Given the description of an element on the screen output the (x, y) to click on. 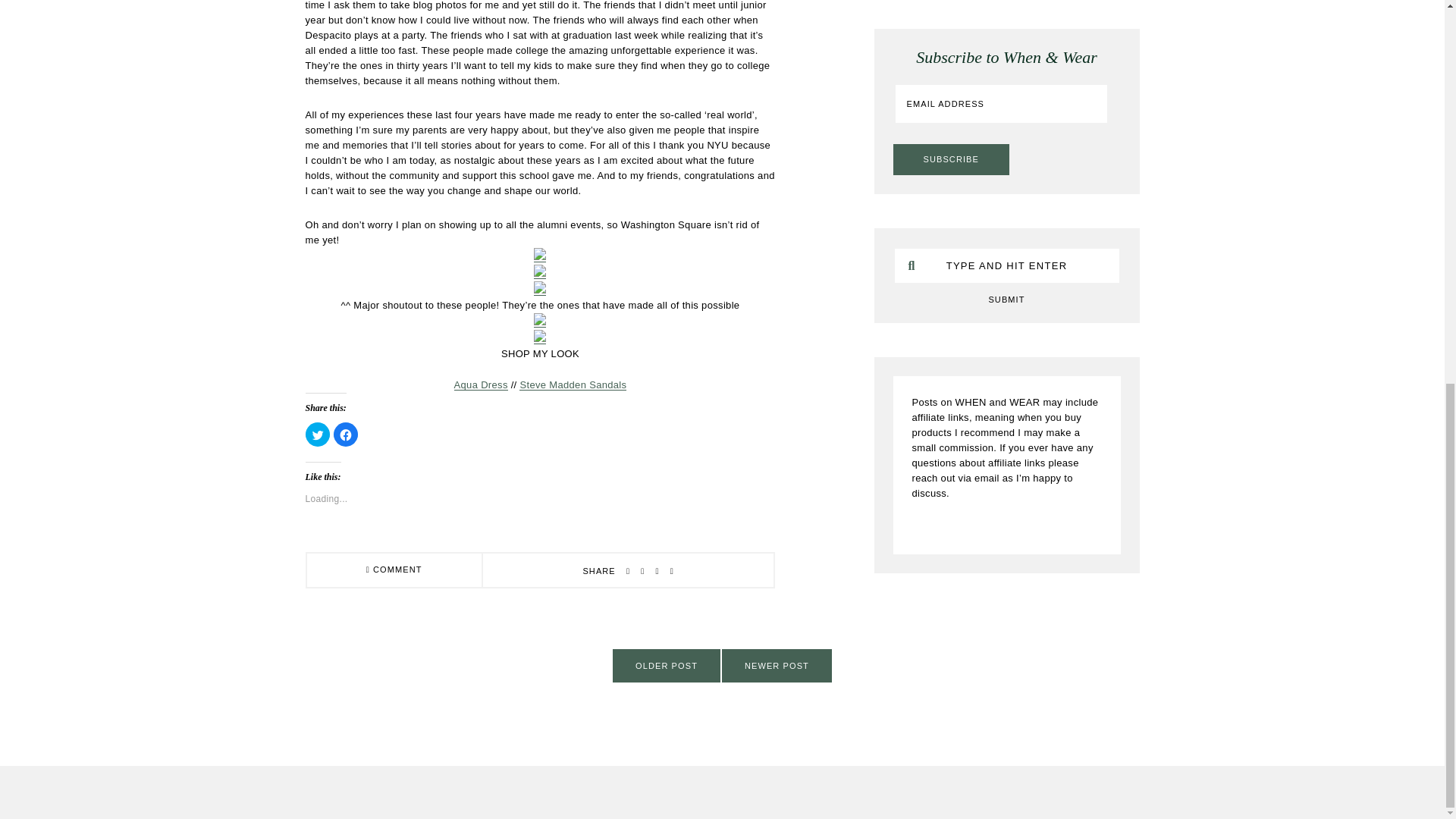
SUBMIT (1007, 299)
Steve Madden Sandals (572, 384)
Type and hit enter (1006, 264)
SUBSCRIBE (951, 159)
OLDER POST (667, 665)
Type and hit enter (1006, 264)
COMMENT (394, 569)
Click to share on Twitter (316, 434)
Click to share on Facebook (345, 434)
Aqua Dress (481, 384)
